Given the description of an element on the screen output the (x, y) to click on. 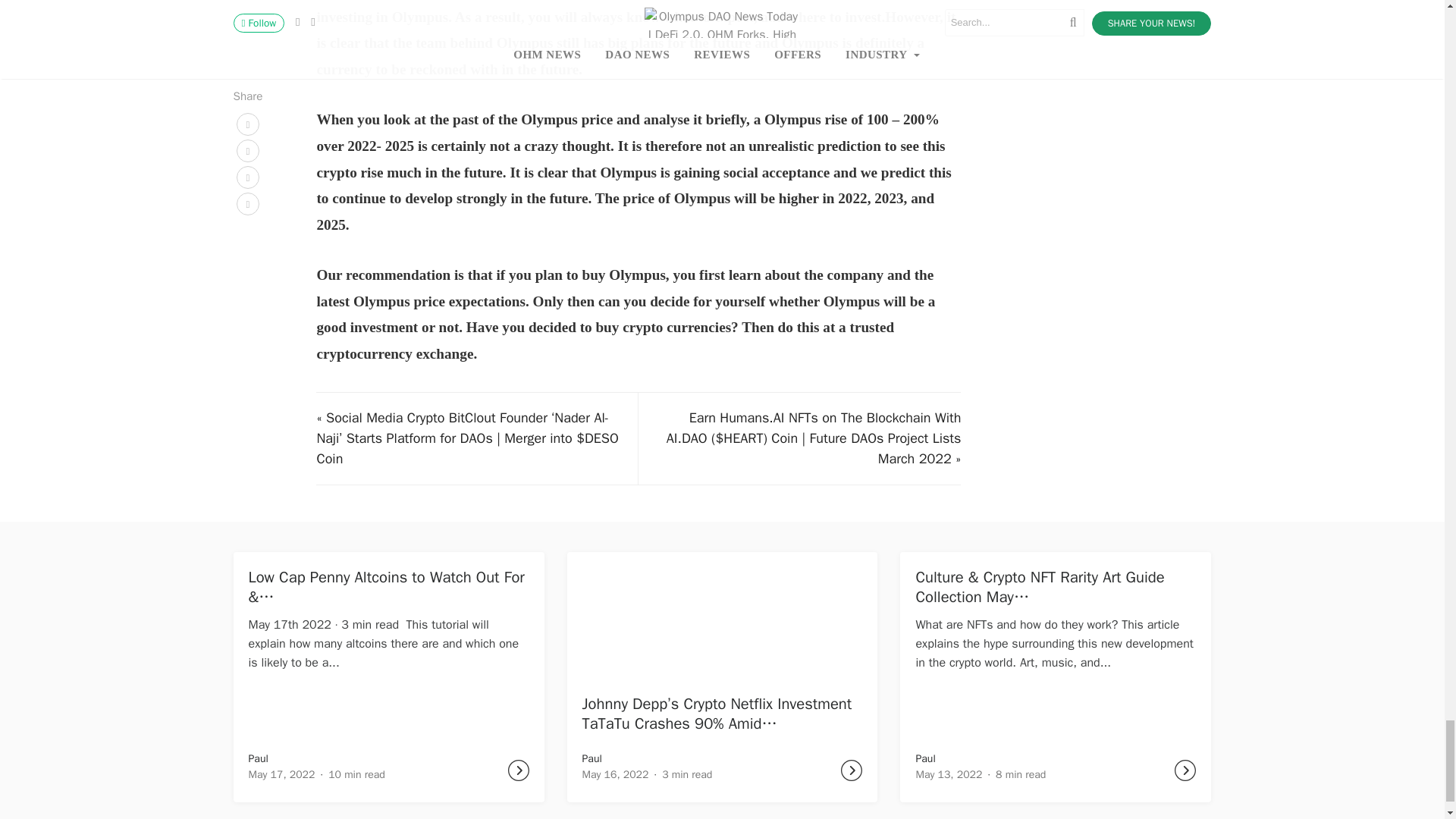
Paul (924, 758)
Paul (257, 758)
Paul (592, 758)
